Given the description of an element on the screen output the (x, y) to click on. 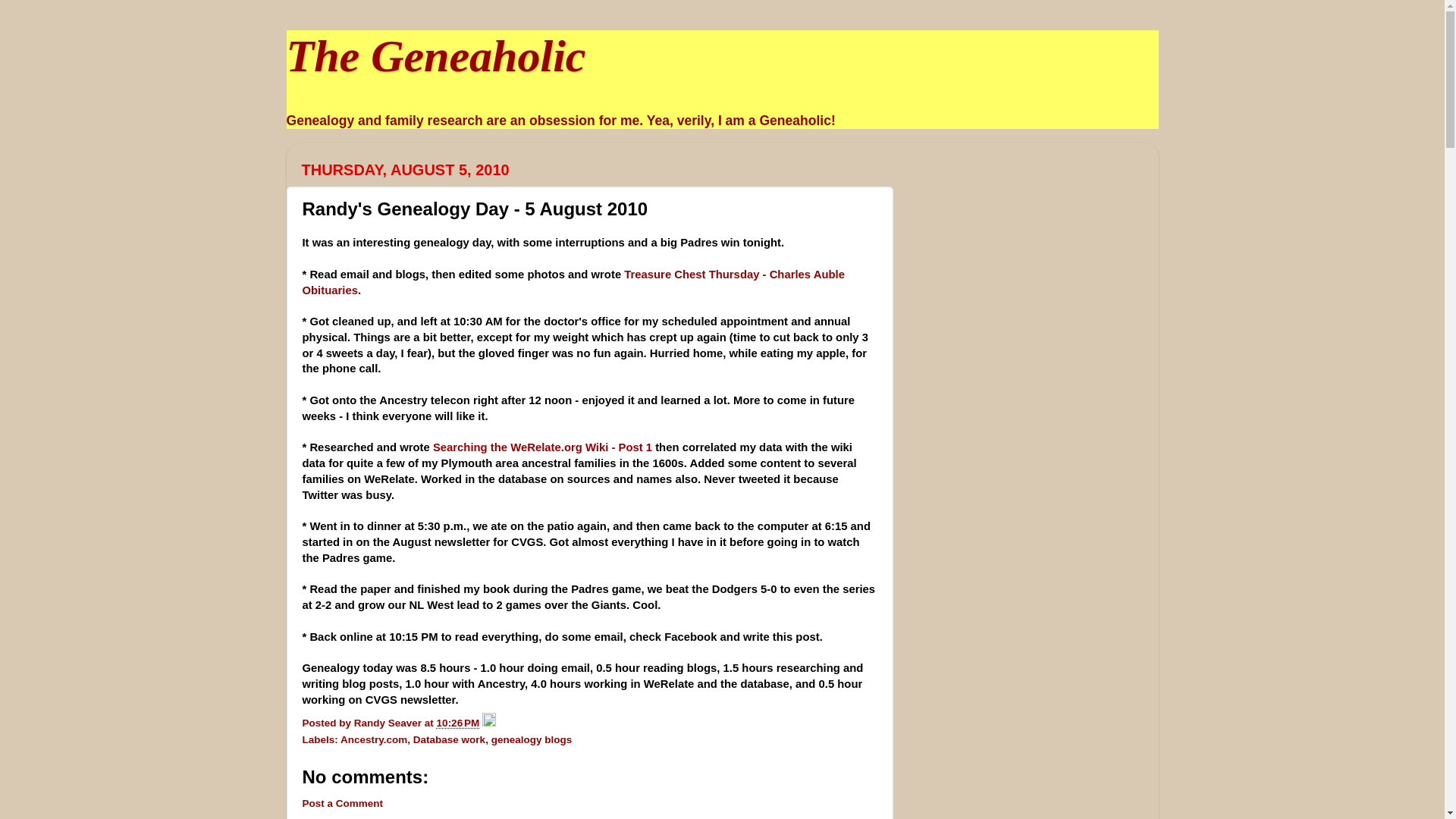
Randy Seaver (389, 722)
Edit Post (488, 722)
Ancestry.com (373, 739)
Post a Comment (341, 803)
Database work (448, 739)
Treasure Chest Thursday - Charles Auble Obituaries (572, 282)
permanent link (458, 722)
genealogy blogs (532, 739)
The Geneaholic (436, 56)
author profile (389, 722)
Searching the WeRelate.org Wiki - Post 1 (542, 447)
